Given the description of an element on the screen output the (x, y) to click on. 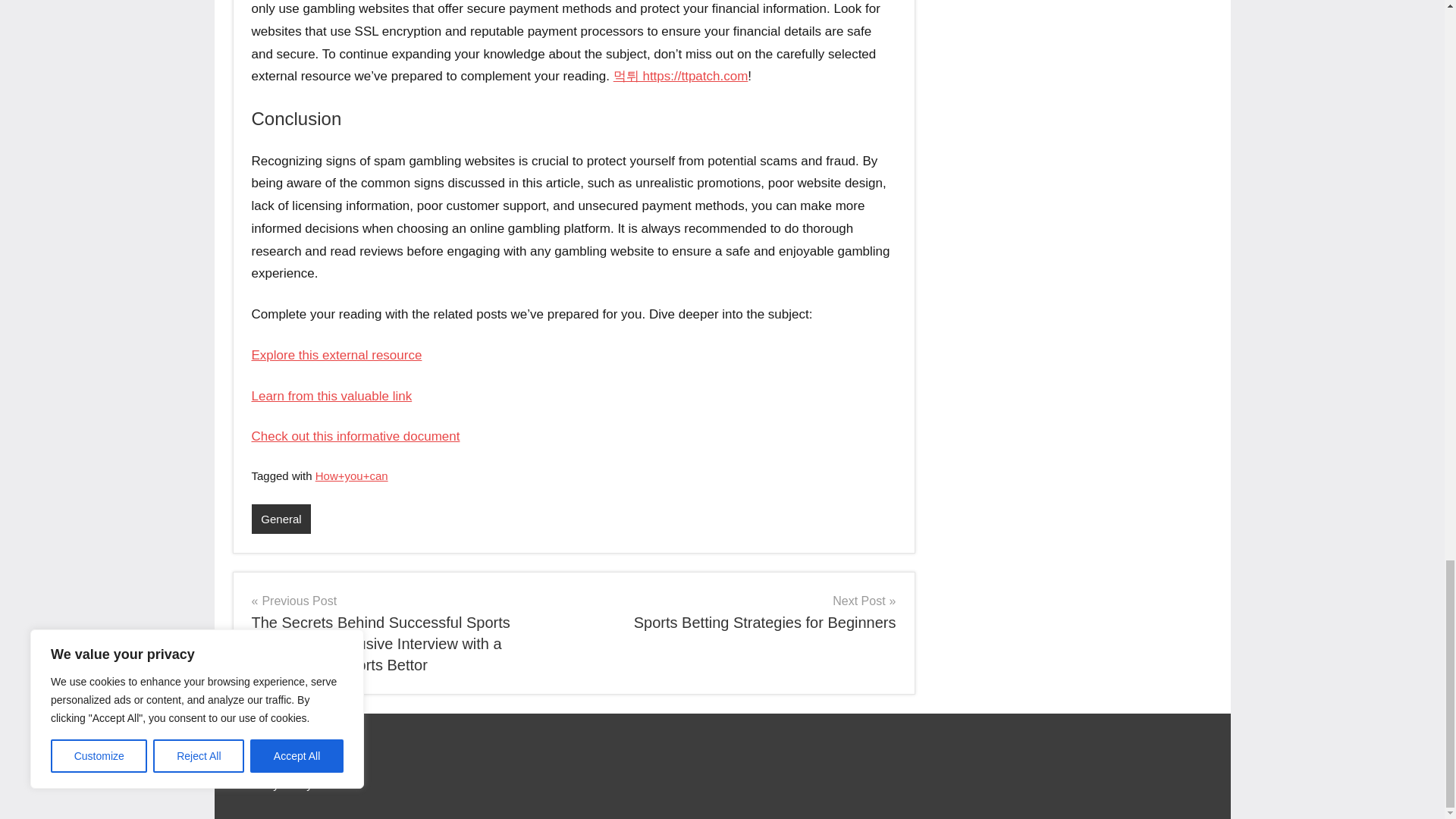
General (281, 518)
Check out this informative document (355, 436)
Explore this external resource (740, 611)
Learn from this valuable link (336, 355)
